Given the description of an element on the screen output the (x, y) to click on. 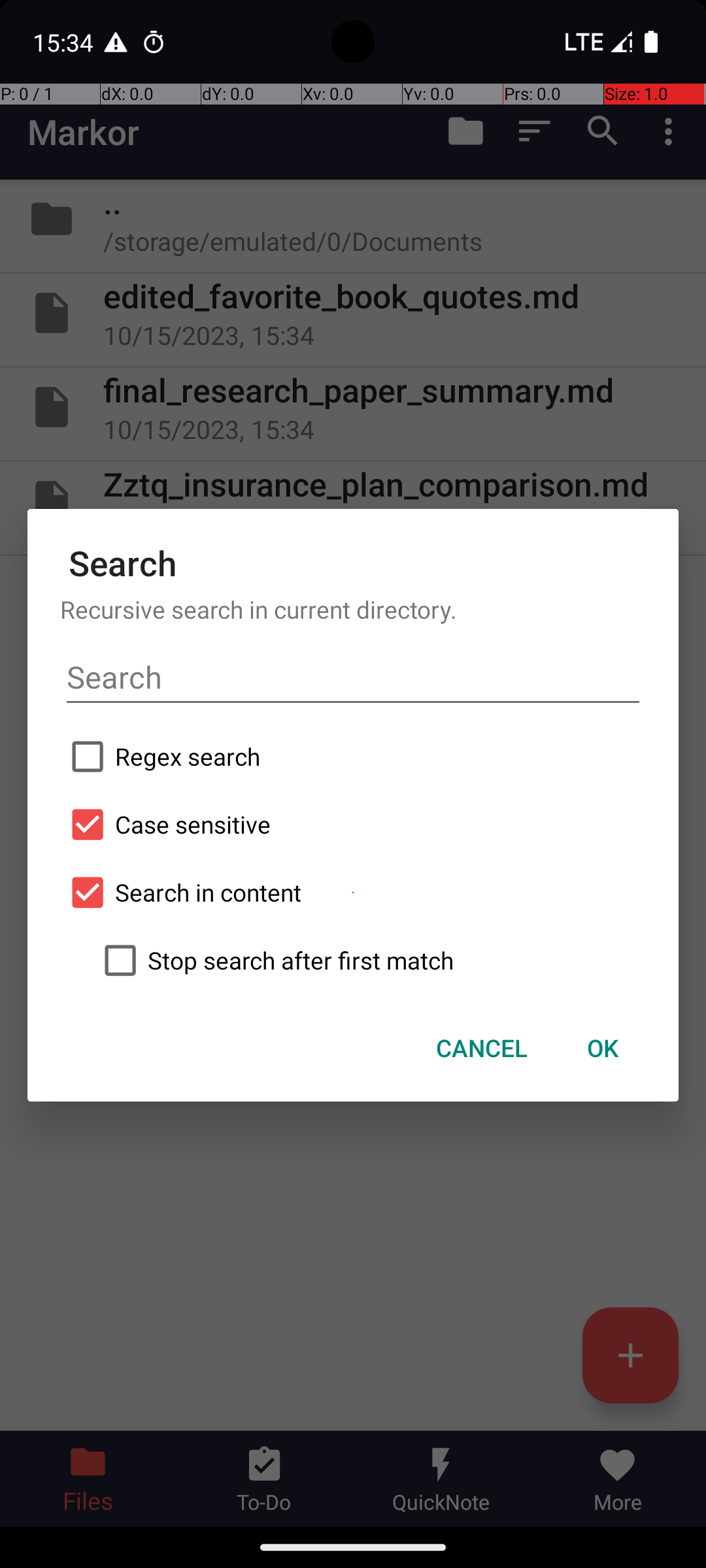
Recursive search in current directory. Element type: android.widget.TextView (352, 608)
Regex search Element type: android.widget.CheckBox (352, 756)
Case sensitive Element type: android.widget.CheckBox (352, 824)
Search in content Element type: android.widget.CheckBox (352, 892)
Stop search after first match Element type: android.widget.CheckBox (368, 959)
